Given the description of an element on the screen output the (x, y) to click on. 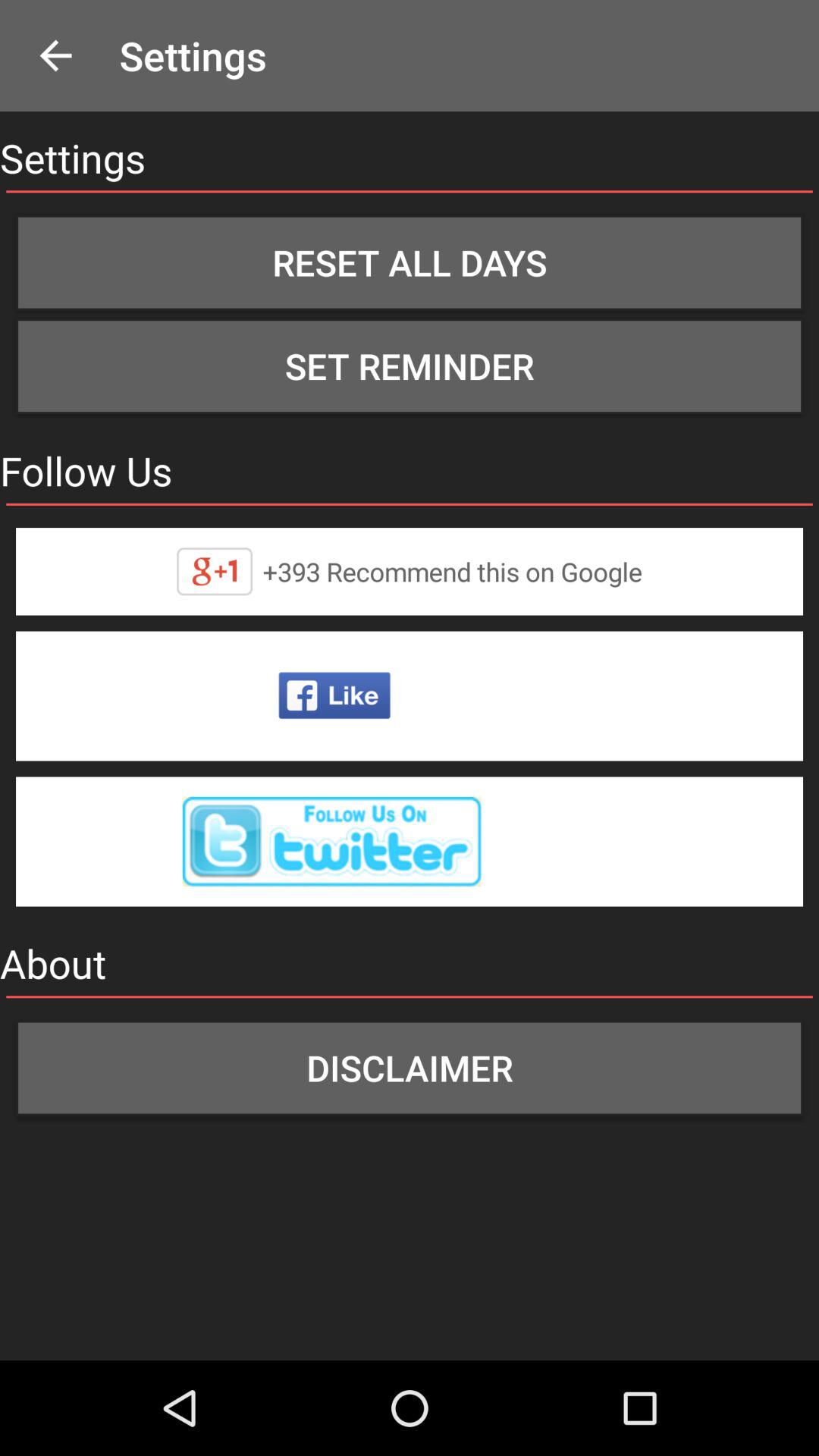
select the icon to the left of the settings app (55, 55)
